Given the description of an element on the screen output the (x, y) to click on. 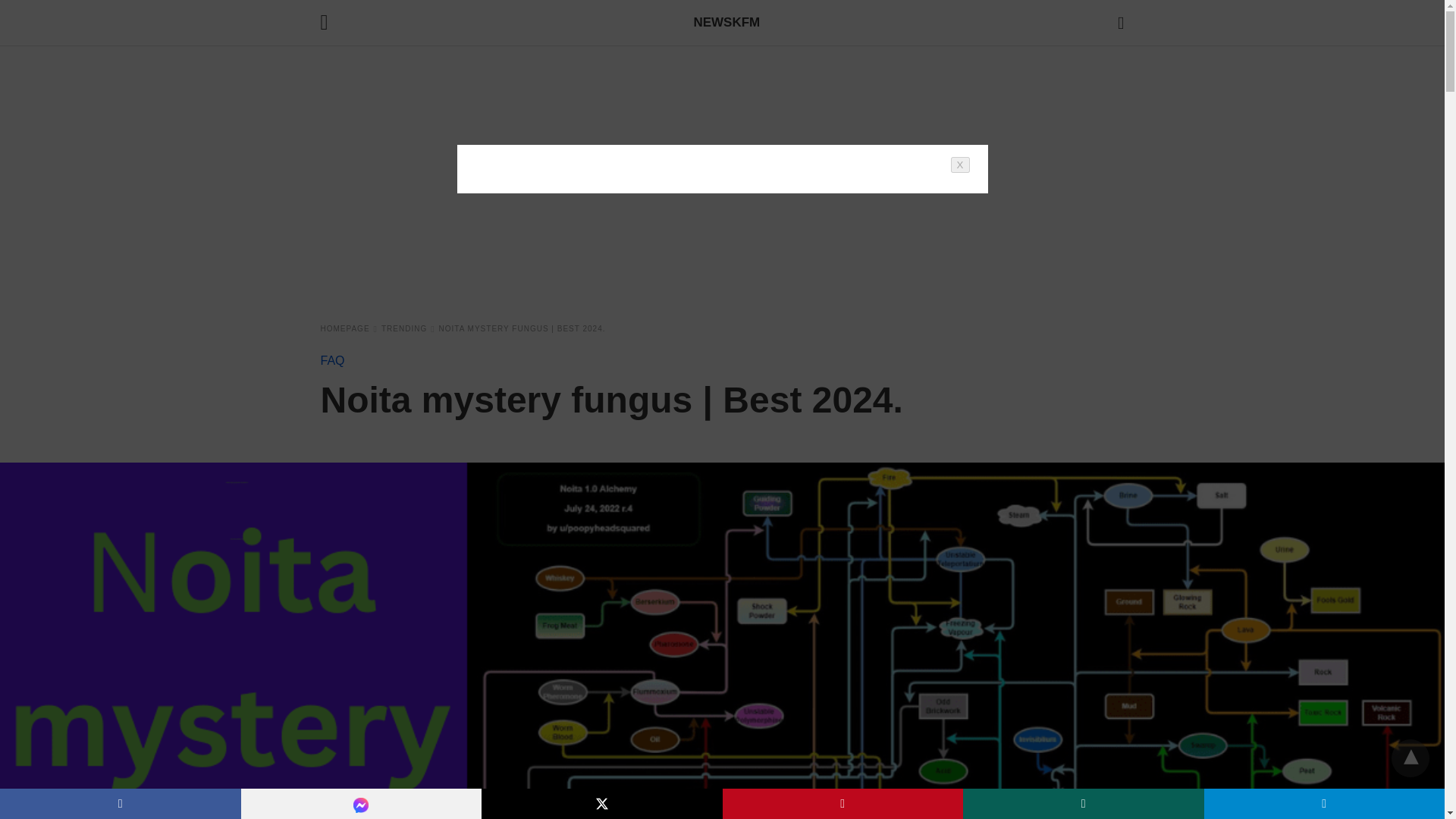
Trending (408, 328)
TRENDING (408, 328)
FAQ (331, 359)
FAQ (331, 359)
Homepage (348, 328)
HOMEPAGE (348, 328)
